Given the description of an element on the screen output the (x, y) to click on. 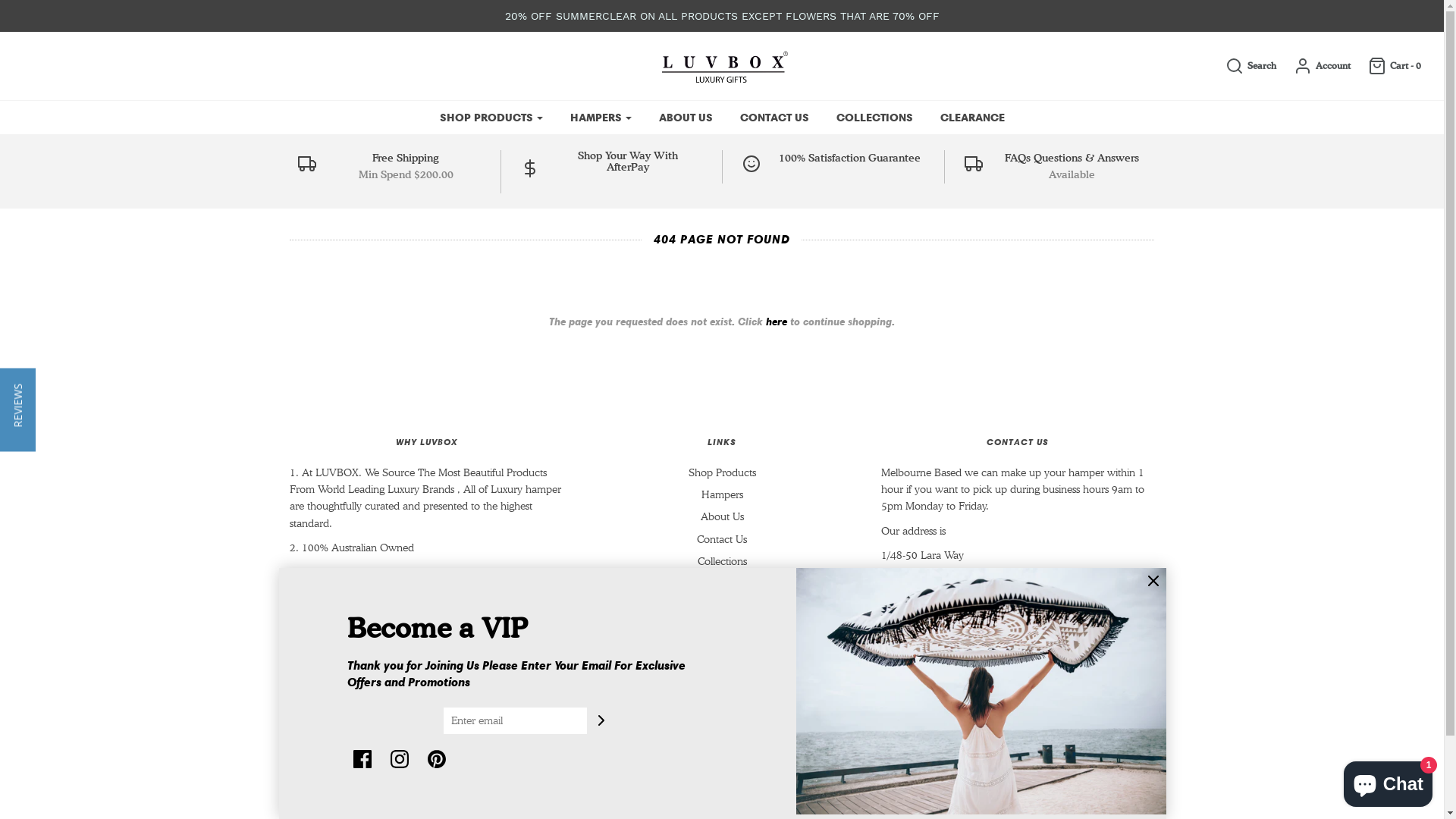
Hampers Element type: text (721, 497)
Contact Us Element type: text (721, 542)
Collections Element type: text (721, 564)
Cart - 0 Element type: text (1386, 65)
Clearance Element type: text (721, 587)
CLEARANCE Element type: text (971, 117)
COLLECTIONS Element type: text (874, 117)
FAQs Questions & Answers Element type: text (1071, 158)
HAMPERS Element type: text (600, 117)
Shop Products Element type: text (722, 475)
CONTACT US Element type: text (773, 117)
SHOP PRODUCTS Element type: text (490, 117)
Free Shipping Element type: text (405, 158)
ABOUT US Element type: text (685, 117)
Shop Your Way With AfterPay Element type: text (627, 163)
Account Element type: text (1314, 65)
Shopify online store chat Element type: hover (1388, 780)
Powered by Shopify Element type: text (405, 798)
here Element type: text (776, 321)
Search Element type: text (1243, 65)
Available Element type: text (1071, 174)
About Us Element type: text (721, 519)
Min Spend $200.00 Element type: text (405, 174)
